Given the description of an element on the screen output the (x, y) to click on. 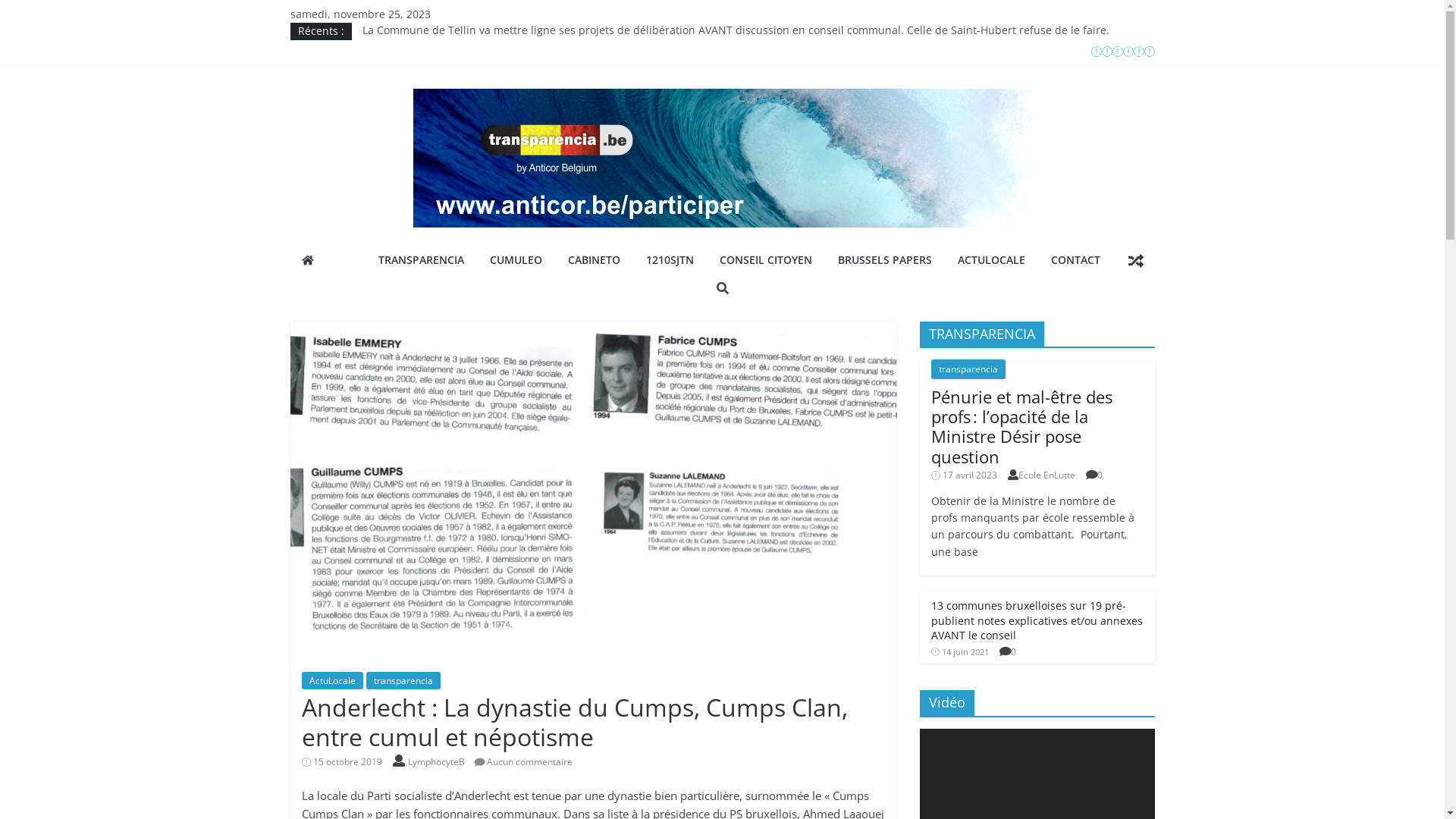
LymphocyteB Element type: text (437, 761)
ActuLocale Element type: text (332, 680)
CABINETO Element type: text (593, 260)
14 juin 2021 Element type: text (959, 651)
15 octobre 2019 Element type: text (341, 761)
Ecole EnLutte Element type: text (1045, 474)
transparencia Element type: text (968, 368)
Anticor Element type: hover (306, 259)
ACTULOCALE Element type: text (991, 260)
Aucun commentaire Element type: text (523, 761)
0 Element type: text (1013, 651)
Transparencia au Parlement Wallon Element type: text (453, 64)
17 avril 2023 Element type: text (964, 474)
0 Element type: text (1099, 474)
CUMULEO Element type: text (515, 260)
Voir un article au hasard Element type: hover (1135, 259)
1210SJTN Element type: text (669, 260)
TRANSPARENCIA Element type: text (421, 260)
CONTACT Element type: text (1075, 260)
transparencia Element type: text (402, 680)
BRUSSELS PAPERS Element type: text (884, 260)
CONSEIL CITOYEN Element type: text (765, 260)
Belle transparence pour la Commune de Nassogne Element type: text (492, 98)
